Given the description of an element on the screen output the (x, y) to click on. 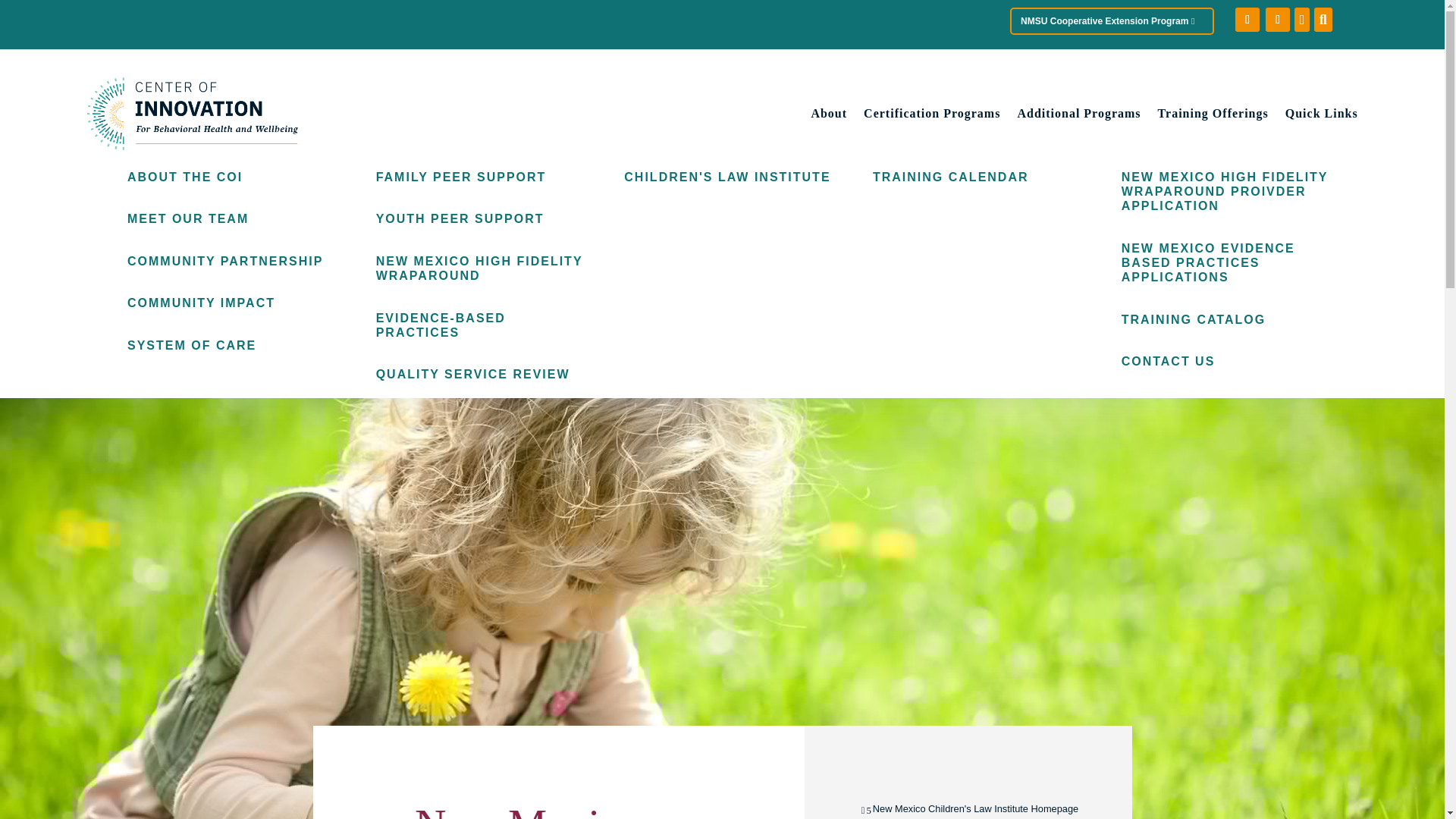
Center-of-Innovation-logo (191, 112)
NMSU Cooperative Extension Program (1112, 21)
Quick Links (1321, 116)
Training Offerings (1212, 116)
About (828, 116)
COMMUNITY IMPACT (201, 302)
Additional Programs (1078, 116)
Certification Programs (931, 116)
Follow on Facebook (1246, 19)
Follow on Instagram (1277, 19)
